Given the description of an element on the screen output the (x, y) to click on. 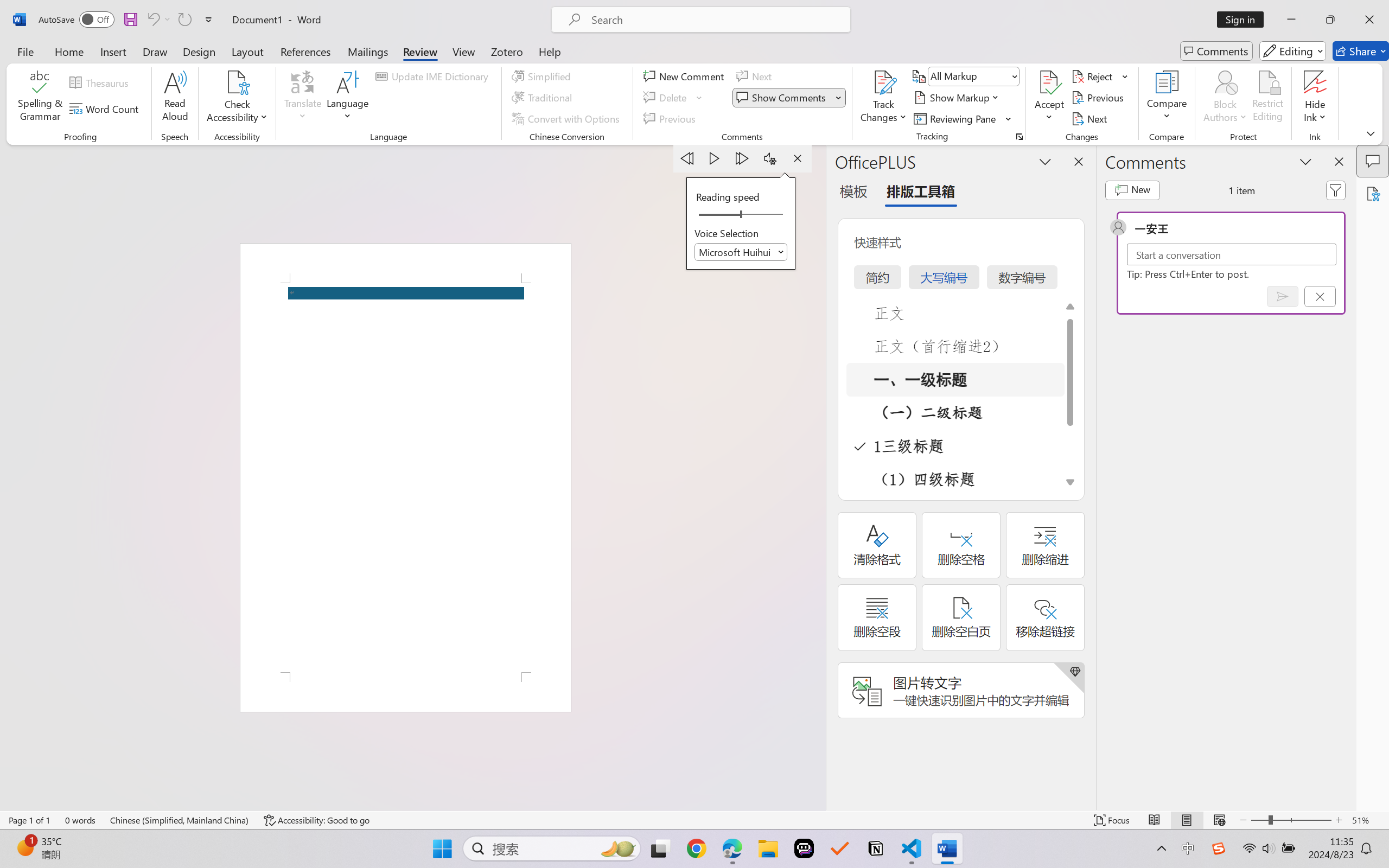
Thesaurus... (101, 82)
Display for Review (973, 75)
Show Markup (957, 97)
Check Accessibility (237, 97)
Language Chinese (Simplified, Mainland China) (179, 819)
Next (1090, 118)
